Given the description of an element on the screen output the (x, y) to click on. 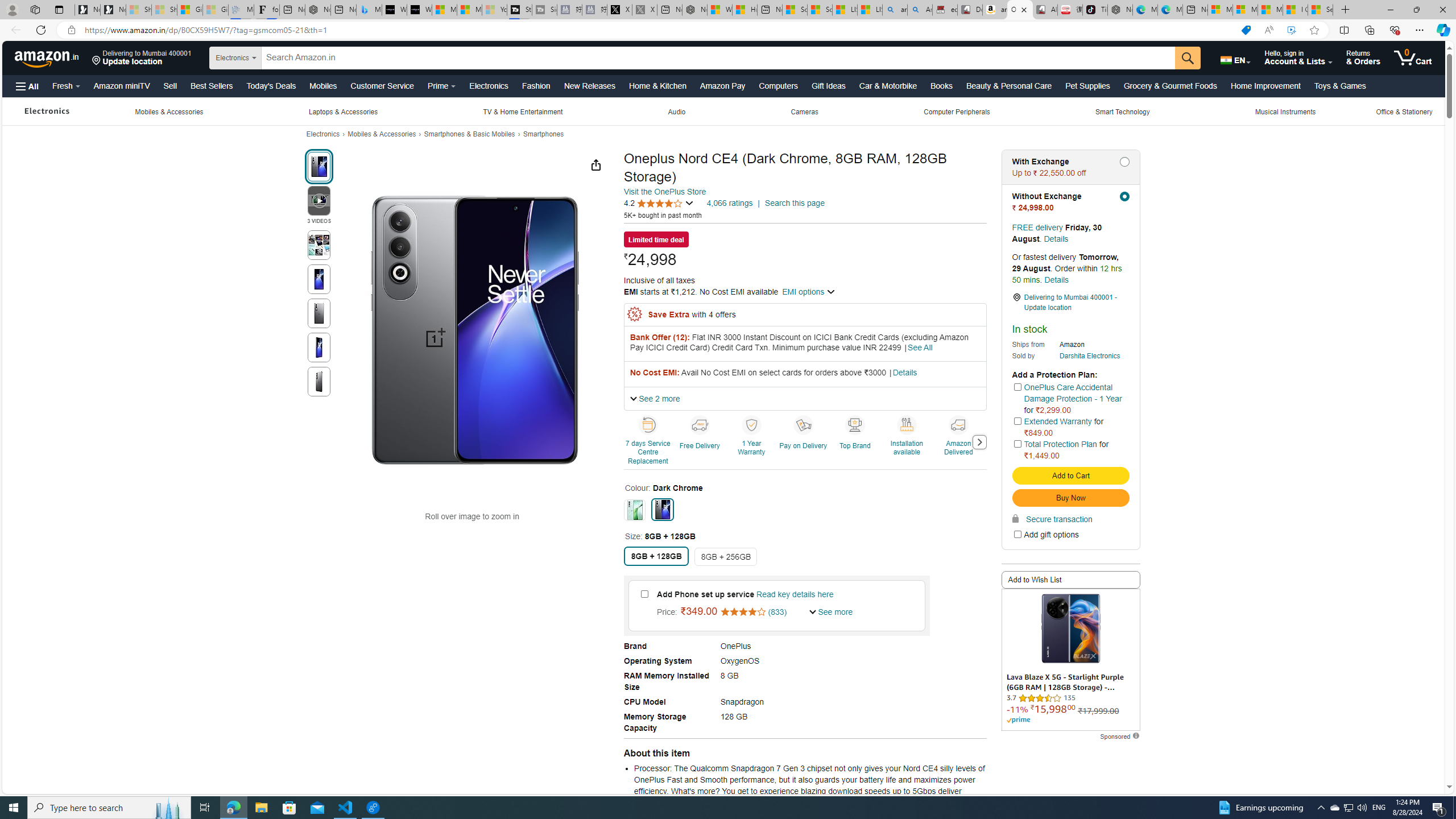
FREE delivery (1036, 226)
Mobiles (322, 85)
Celadon Marble (634, 509)
4.2 4.2 out of 5 stars (658, 203)
Customer Service (381, 85)
Go (1187, 57)
Mobiles & Accessories (381, 134)
4.0 stars (833) (753, 611)
Books (941, 85)
Pay on Delivery (804, 441)
